Given the description of an element on the screen output the (x, y) to click on. 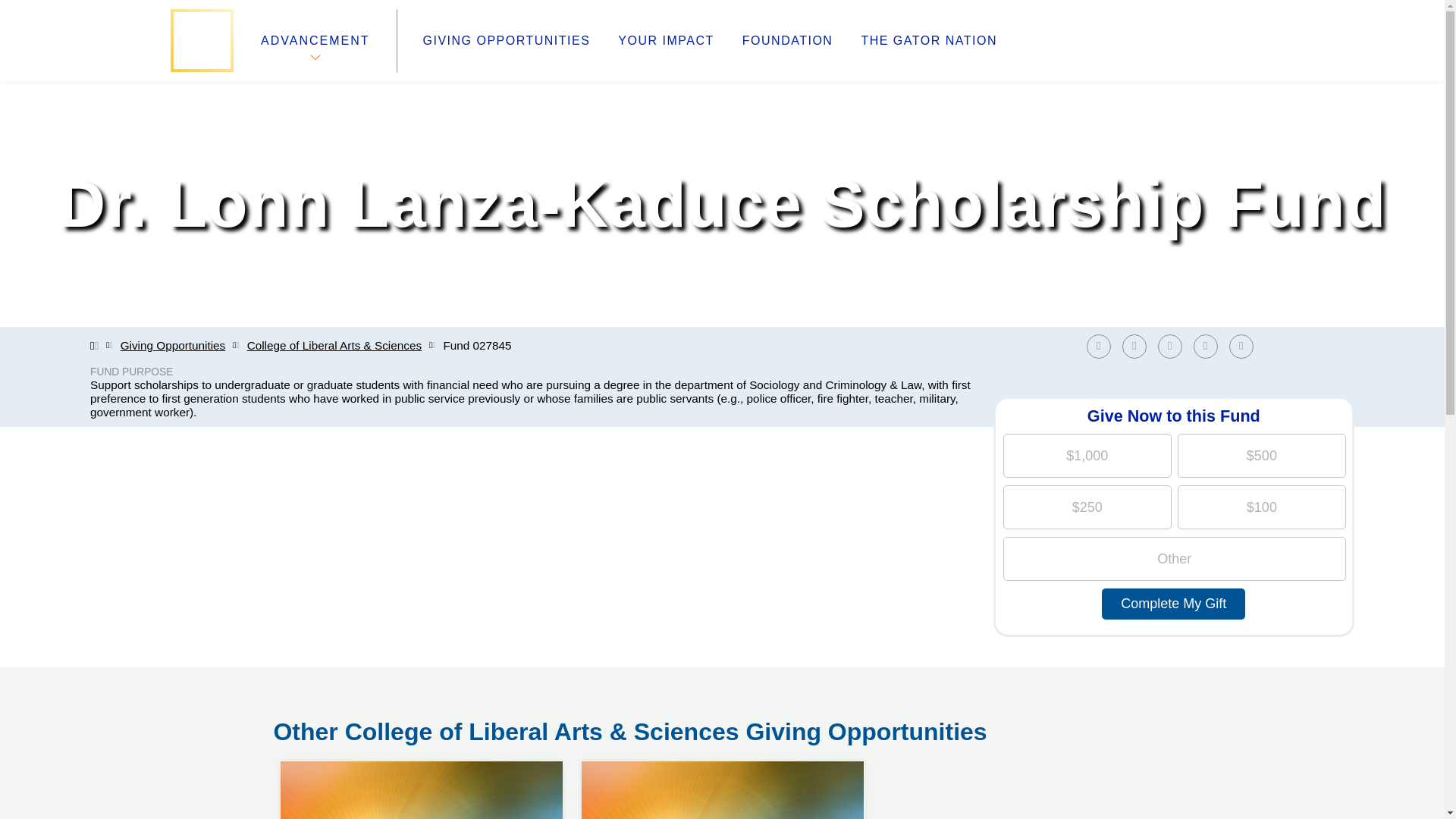
ADVANCEMENT (314, 40)
Complete My Gift (421, 761)
Share by Email (1173, 603)
THE GATOR NATION (1244, 345)
Share on Twitter (928, 40)
FOUNDATION (1134, 346)
Share on Twitter (787, 40)
Share on LinkedIn (1138, 345)
YOUR IMPACT (1169, 346)
Share on Facebook (665, 40)
Share on Reddit (1098, 346)
Share by Email (1209, 345)
GIVING OPPORTUNITIES (1240, 346)
